Given the description of an element on the screen output the (x, y) to click on. 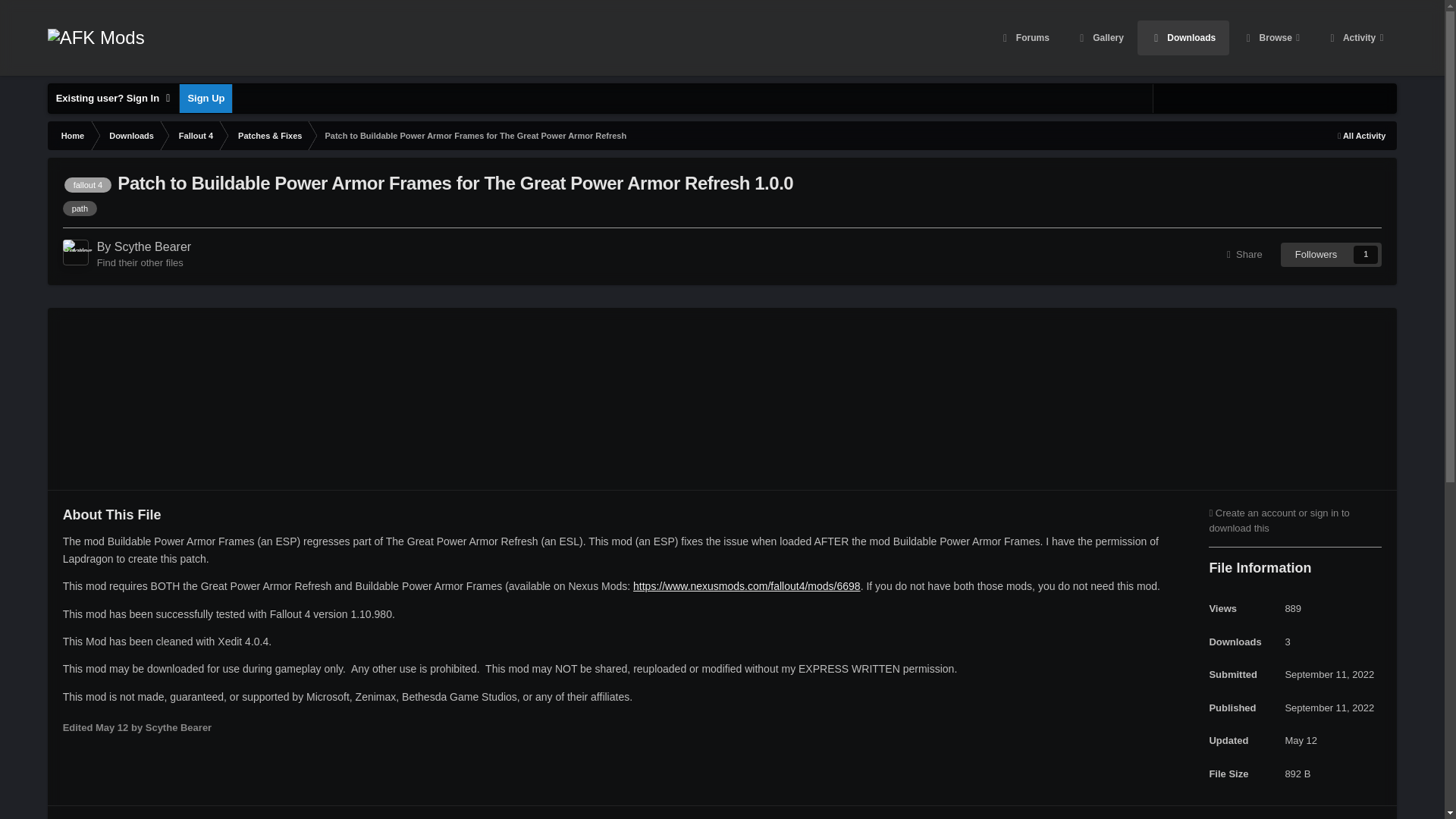
All Activity (1361, 135)
Find their other files (140, 262)
Find other content tagged with 'path' (79, 208)
path (79, 208)
Home (72, 135)
Sign Up (205, 98)
Downloads (130, 135)
Activity (1354, 37)
Home (72, 135)
Browse (1270, 37)
Find other content tagged with 'fallout 4' (88, 184)
 Share (1244, 254)
Downloads (1182, 37)
Existing user? Sign In   (113, 98)
Gallery (1099, 37)
